Given the description of an element on the screen output the (x, y) to click on. 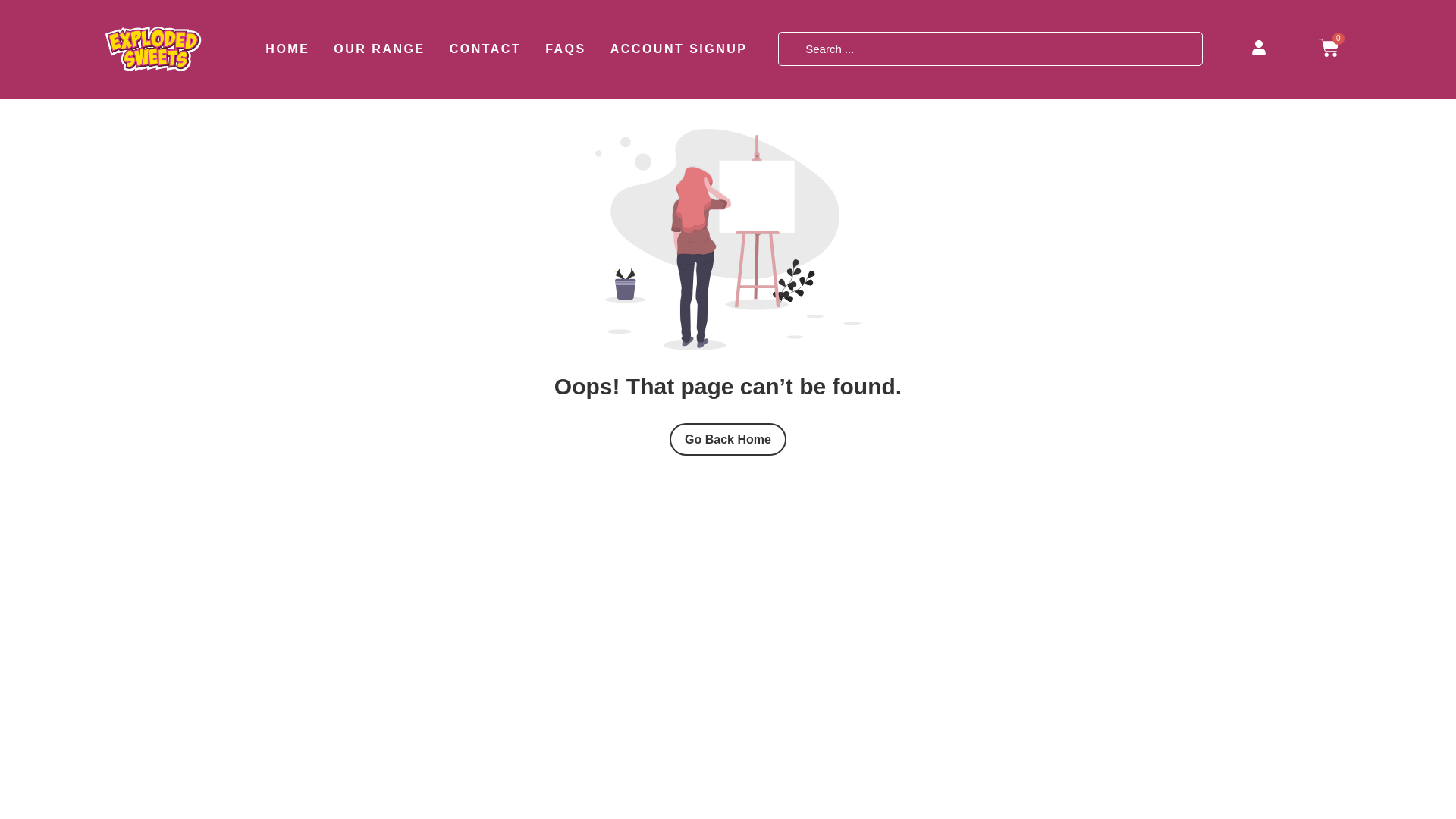
CONTACT (485, 49)
0 (1329, 48)
ACCOUNT SIGNUP (679, 49)
HOME (286, 49)
FAQS (565, 49)
OUR RANGE (379, 49)
Go Back Home (727, 439)
